Given the description of an element on the screen output the (x, y) to click on. 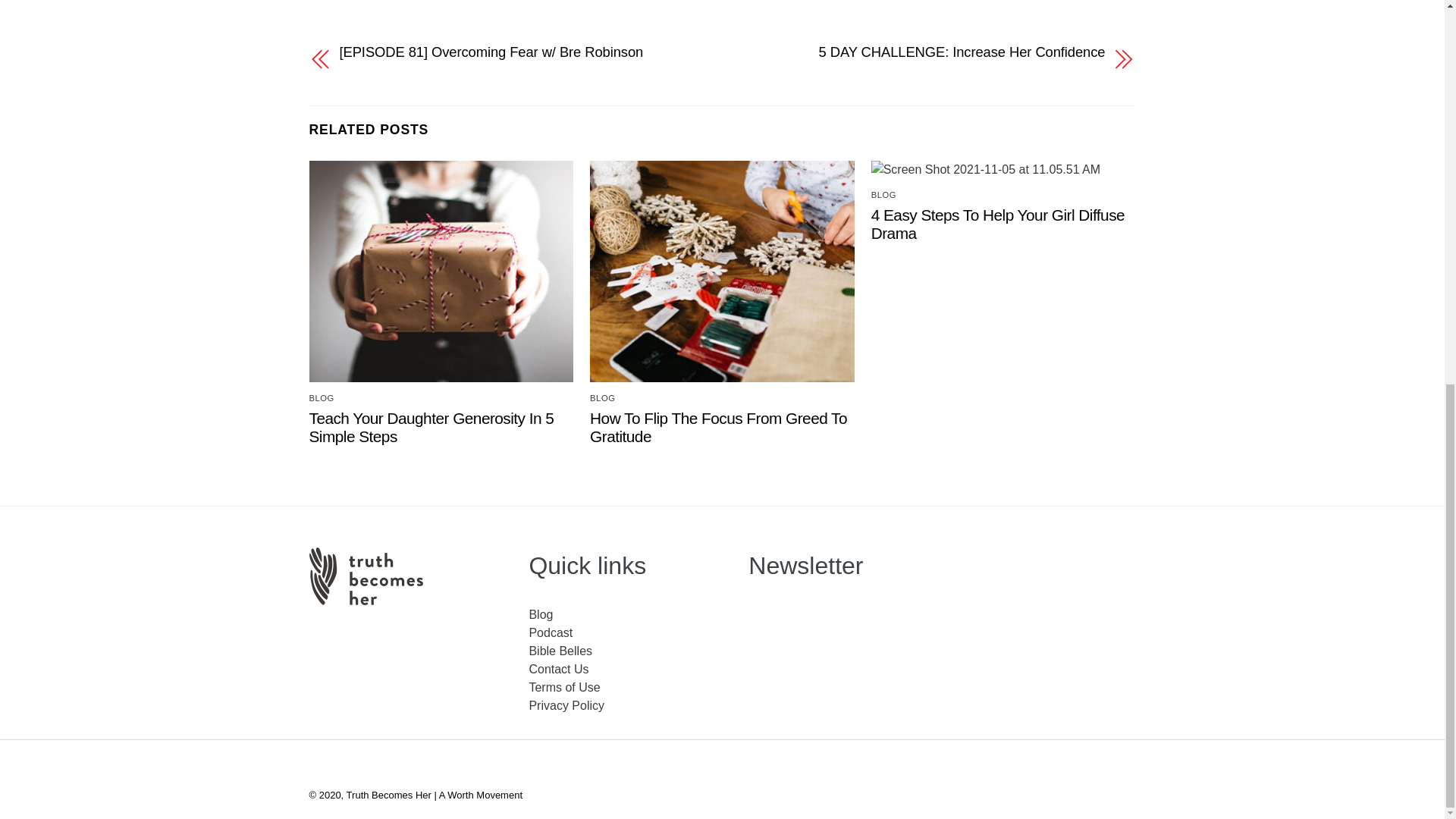
Untitled-1-Recovered (440, 271)
Bible Belles (560, 651)
4 Easy Steps To Help Your Girl Diffuse Drama (997, 223)
Teach Your Daughter Generosity In 5 Simple Steps (431, 427)
Untitled-1-Recovered copy (721, 271)
4 Easy Steps To Help Your Girl Diffuse Drama (997, 223)
Terms of Use (563, 687)
5 DAY CHALLENGE: Increase Her Confidence (925, 52)
BLOG (601, 397)
How To Flip The Focus From Greed To Gratitude (718, 427)
Podcast (550, 632)
Blog (540, 614)
BLOG (321, 397)
Teach Your Daughter Generosity In 5 Simple Steps (431, 427)
Screen Shot 2021-11-05 at 11.05.51 AM (985, 169)
